Given the description of an element on the screen output the (x, y) to click on. 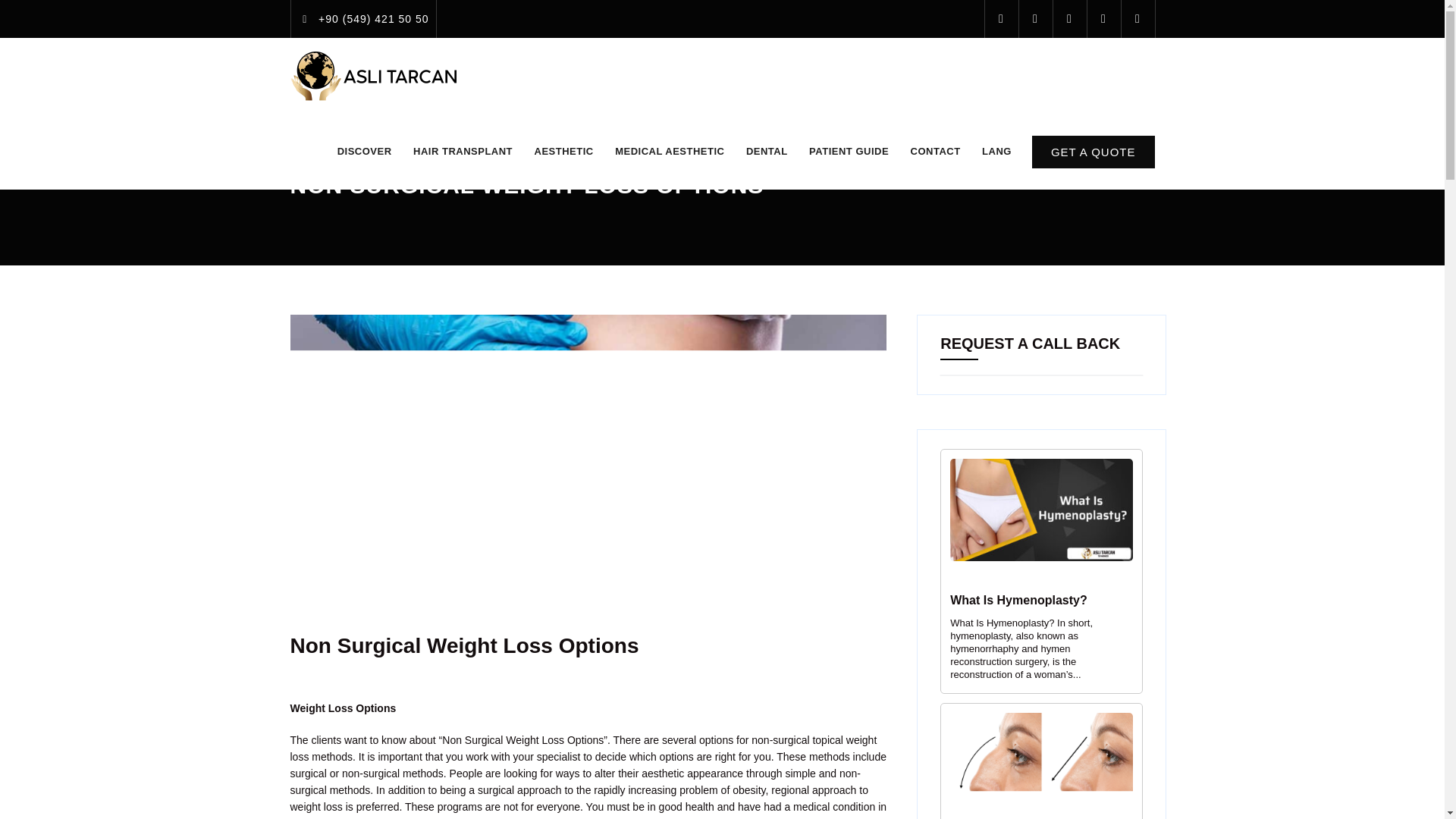
Asli Tarcan Clinic (374, 75)
MEDICAL AESTHETIC (668, 151)
HAIR TRANSPLANT (462, 151)
GET A QUOTE (1093, 151)
